Given the description of an element on the screen output the (x, y) to click on. 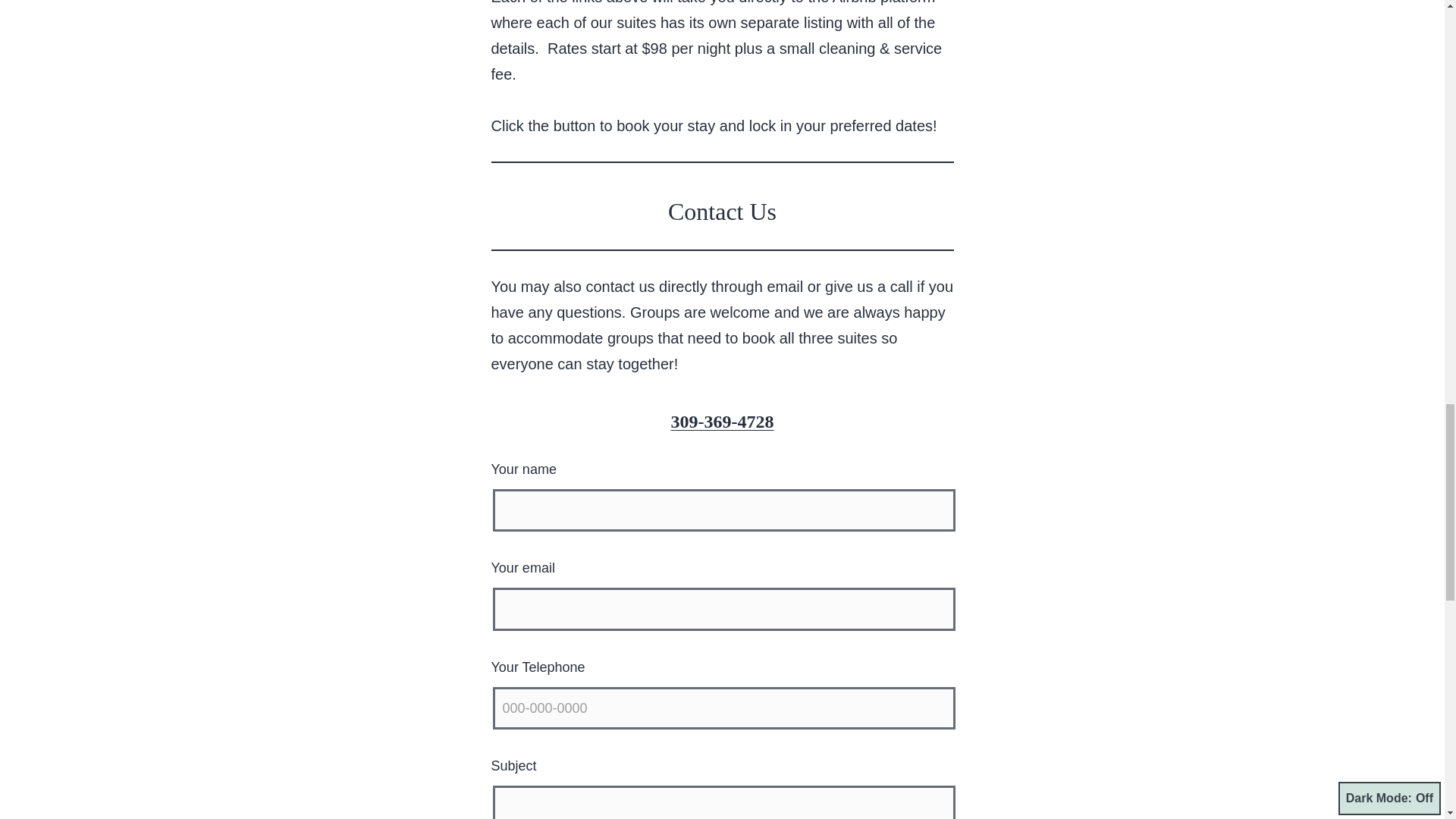
309-369-4728 (721, 421)
